Given the description of an element on the screen output the (x, y) to click on. 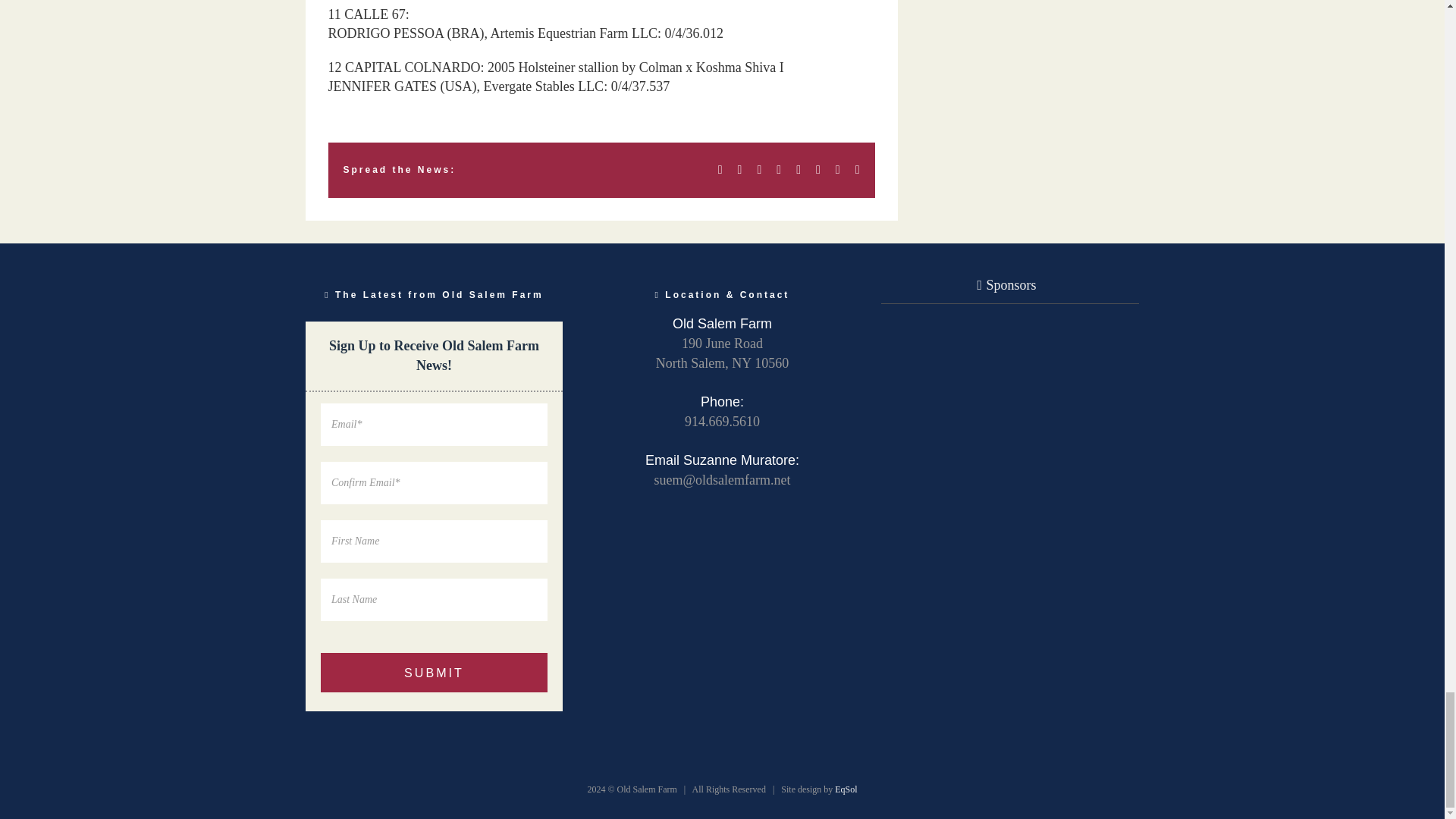
Submit (433, 672)
